Given the description of an element on the screen output the (x, y) to click on. 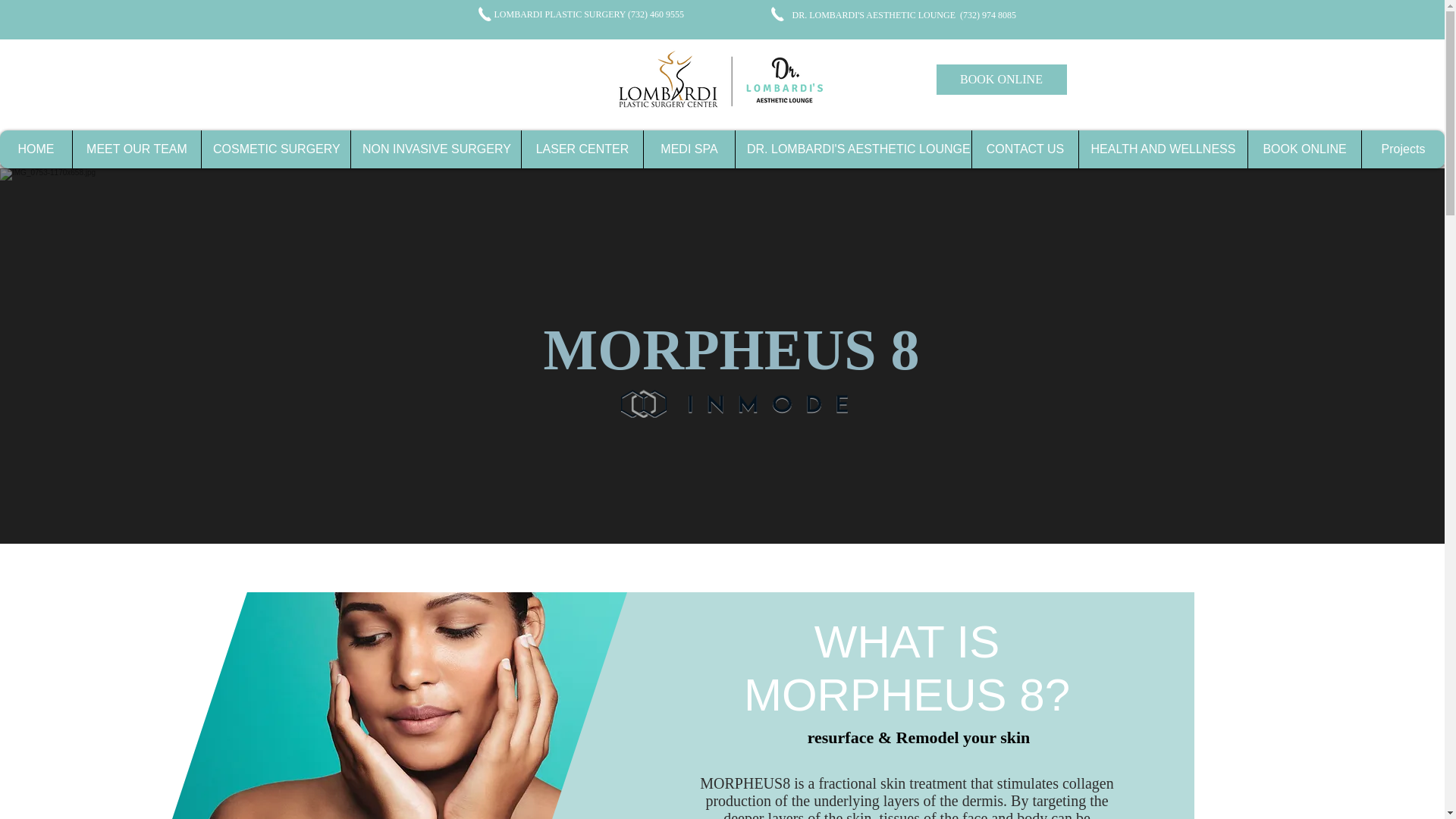
COSMETIC SURGERY (269, 149)
HOME (32, 149)
LASER CENTER (585, 149)
MEET OUR TEAM (128, 149)
NON INVASIVE SURGERY (435, 149)
BOOK ONLINE (1000, 79)
